Given the description of an element on the screen output the (x, y) to click on. 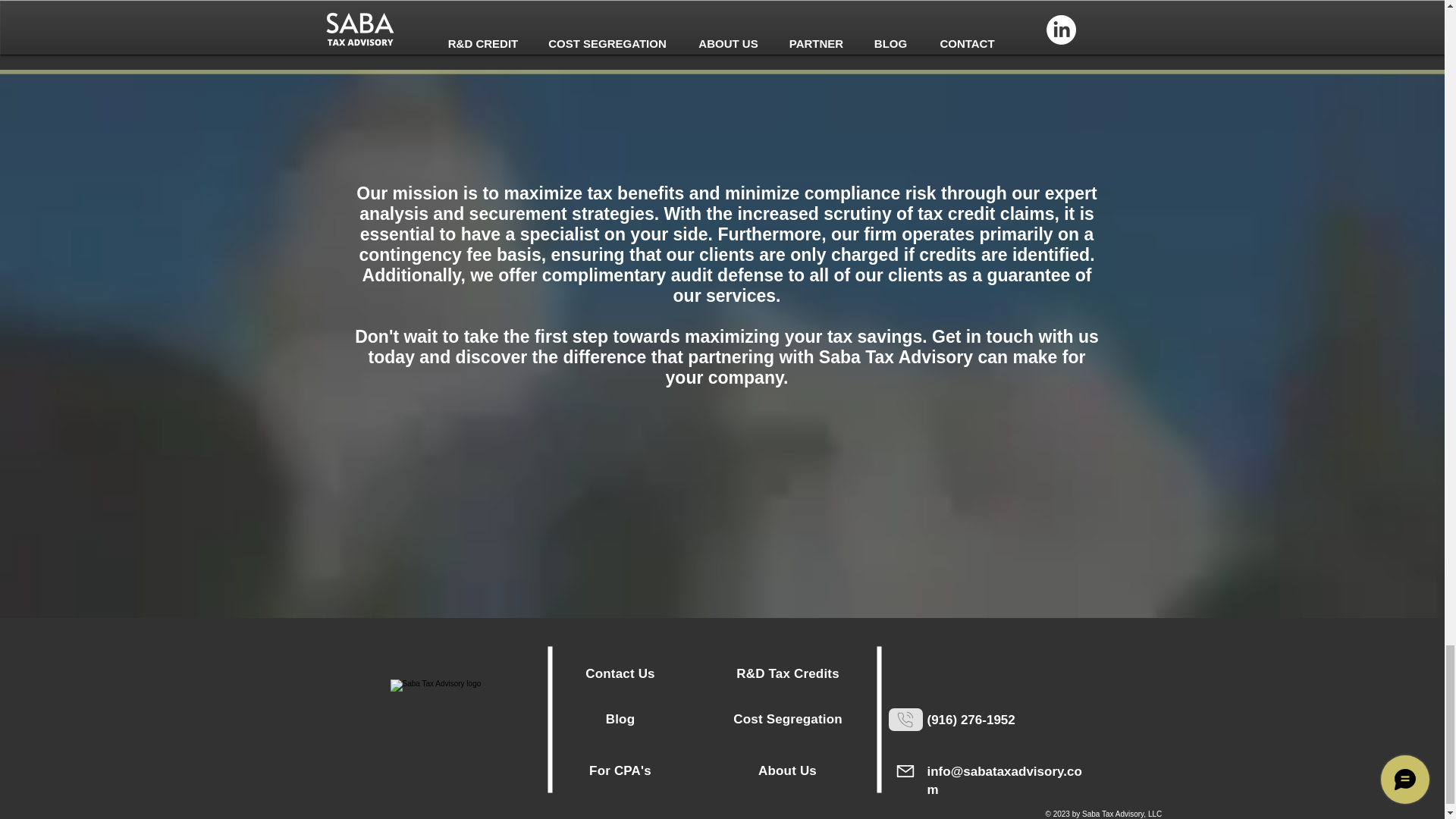
Cost Segregation  (789, 718)
Contact Us (619, 673)
About Us (787, 770)
For CPA's (619, 770)
Blog (619, 718)
